Given the description of an element on the screen output the (x, y) to click on. 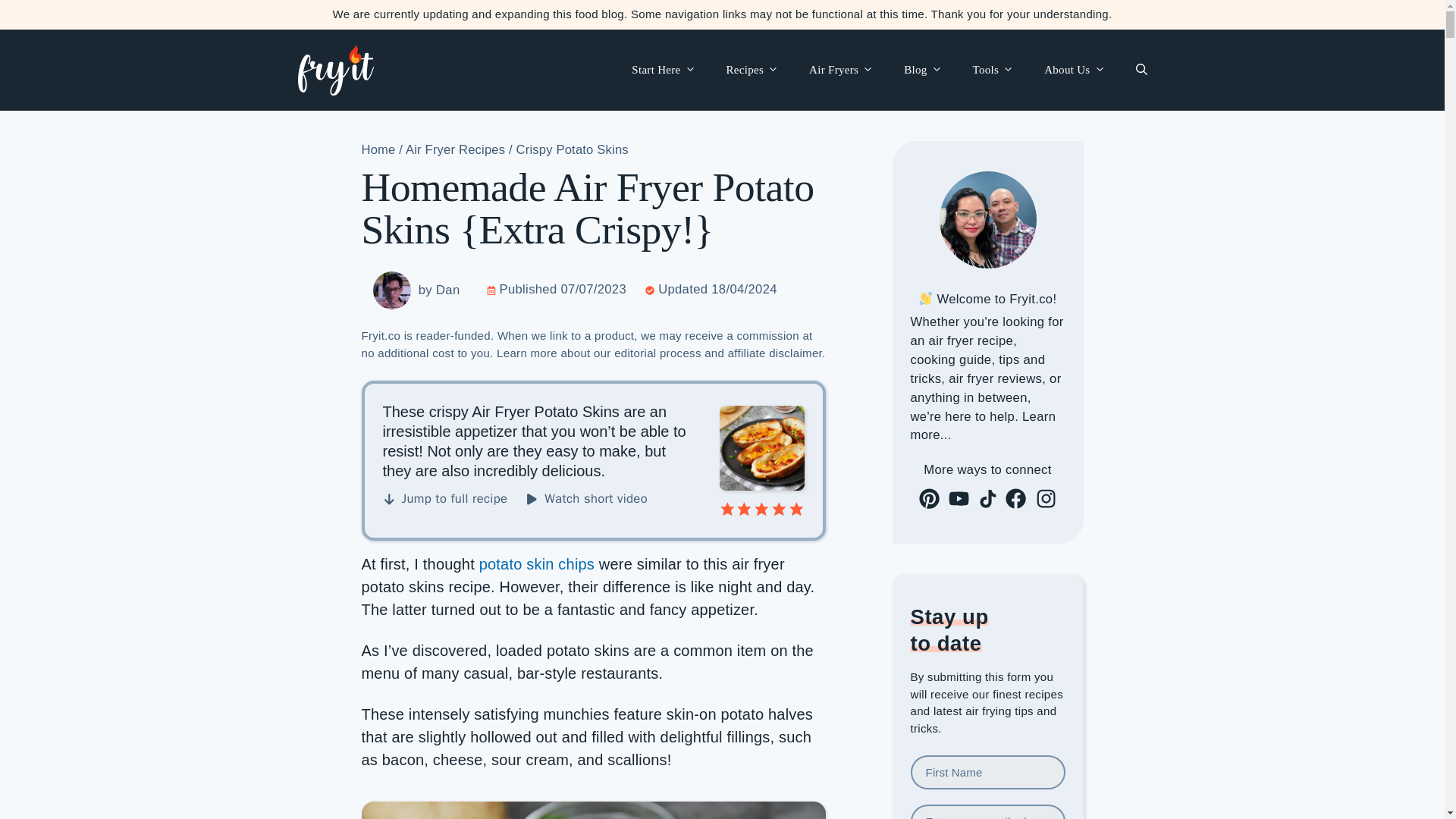
Fry It (334, 68)
Fry It (334, 70)
air fryer potato skins rcpimg (761, 489)
Recipes (752, 69)
Start Here (662, 69)
